Given the description of an element on the screen output the (x, y) to click on. 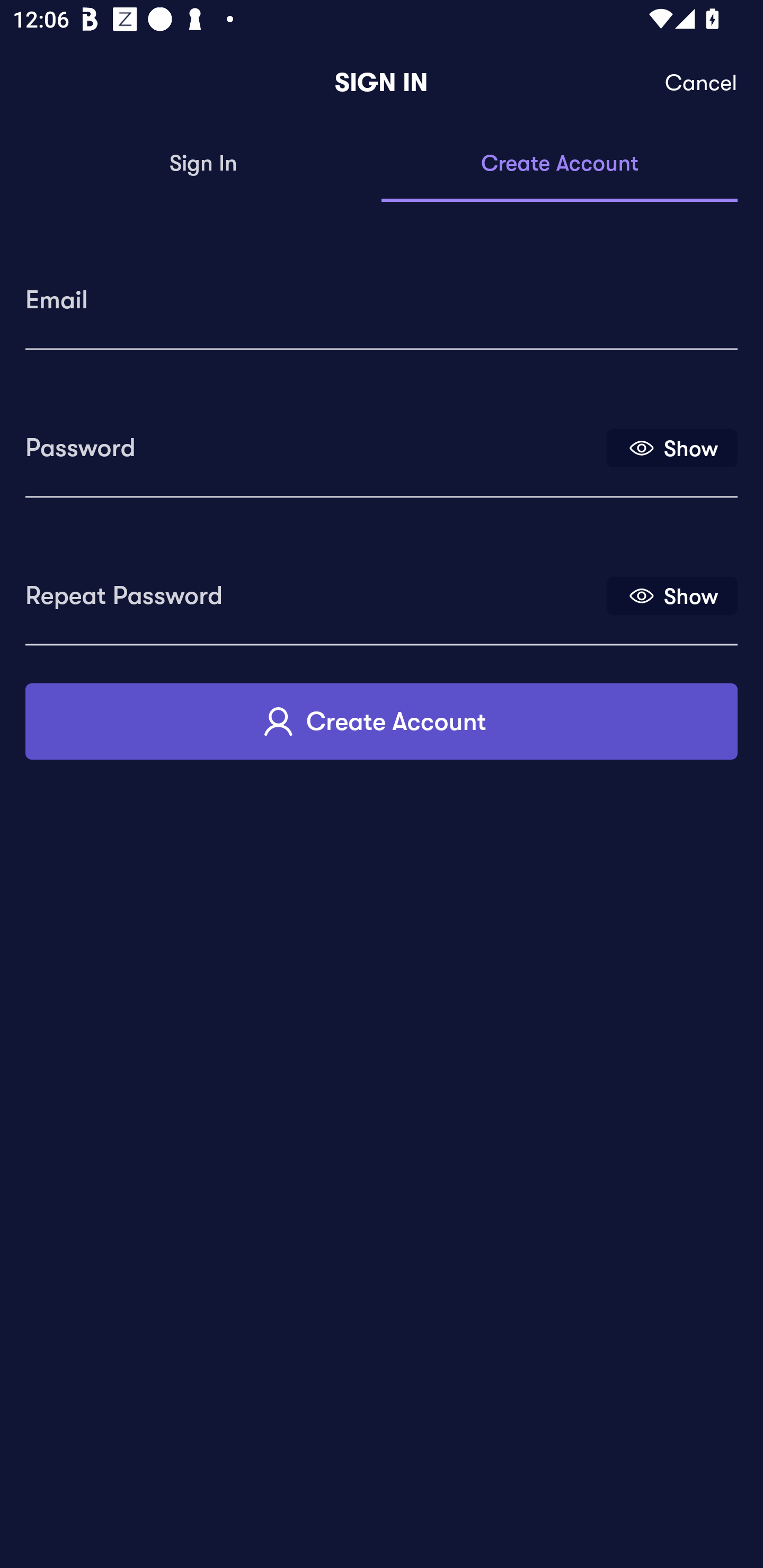
Cancel (701, 82)
Sign In (203, 164)
Create Account (559, 164)
Email (381, 293)
Password (314, 441)
Show Password Show (671, 447)
Repeat Password (314, 589)
Show Repeat Password Show (671, 595)
Create Account (381, 720)
